Given the description of an element on the screen output the (x, y) to click on. 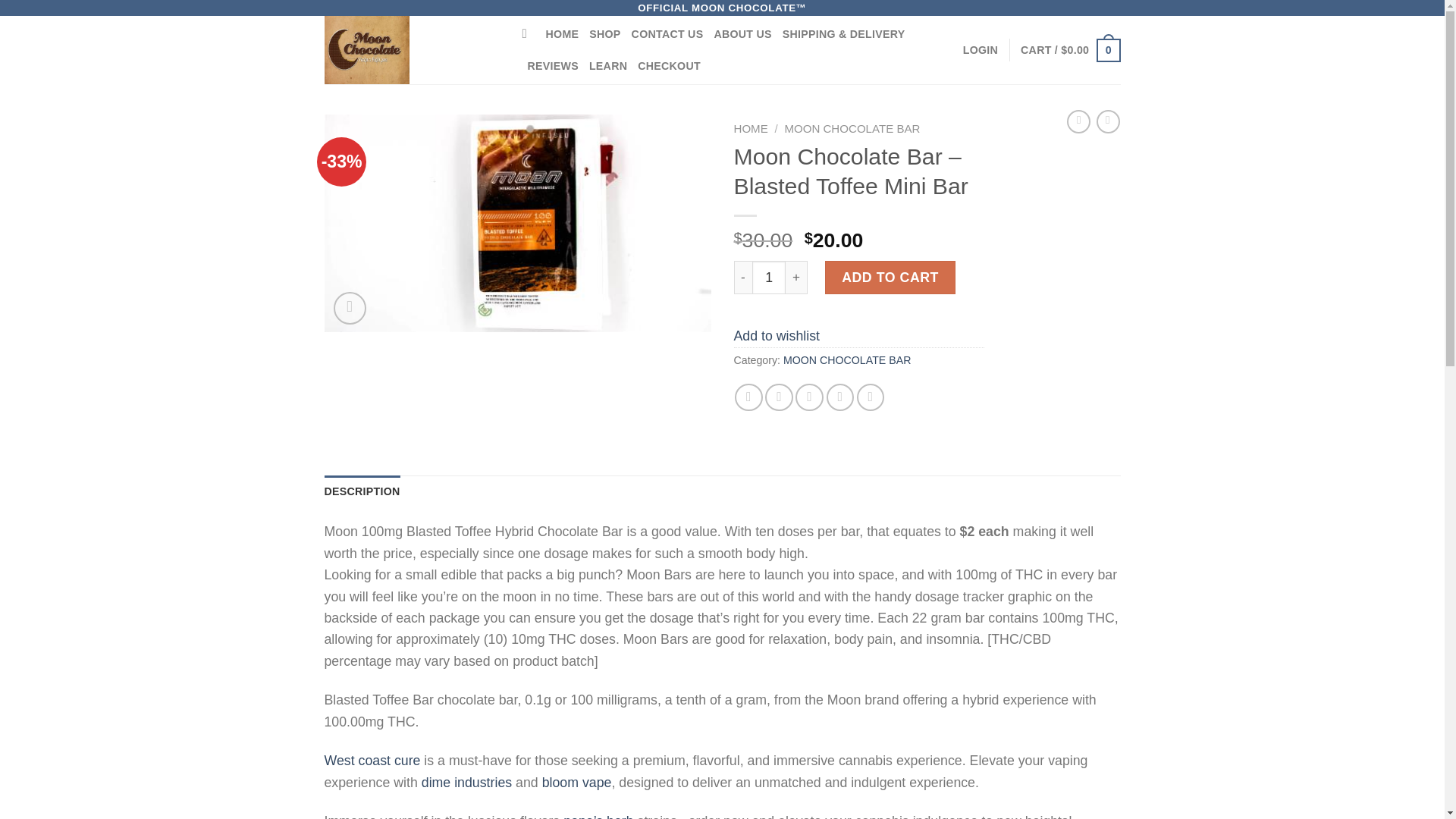
CHECKOUT (668, 65)
Zoom (349, 307)
LOGIN (979, 50)
1 (769, 277)
CONTACT US (667, 34)
REVIEWS (552, 65)
SHOP (604, 34)
ABOUT US (742, 34)
Share on LinkedIn (871, 397)
HOME (562, 34)
